Given the description of an element on the screen output the (x, y) to click on. 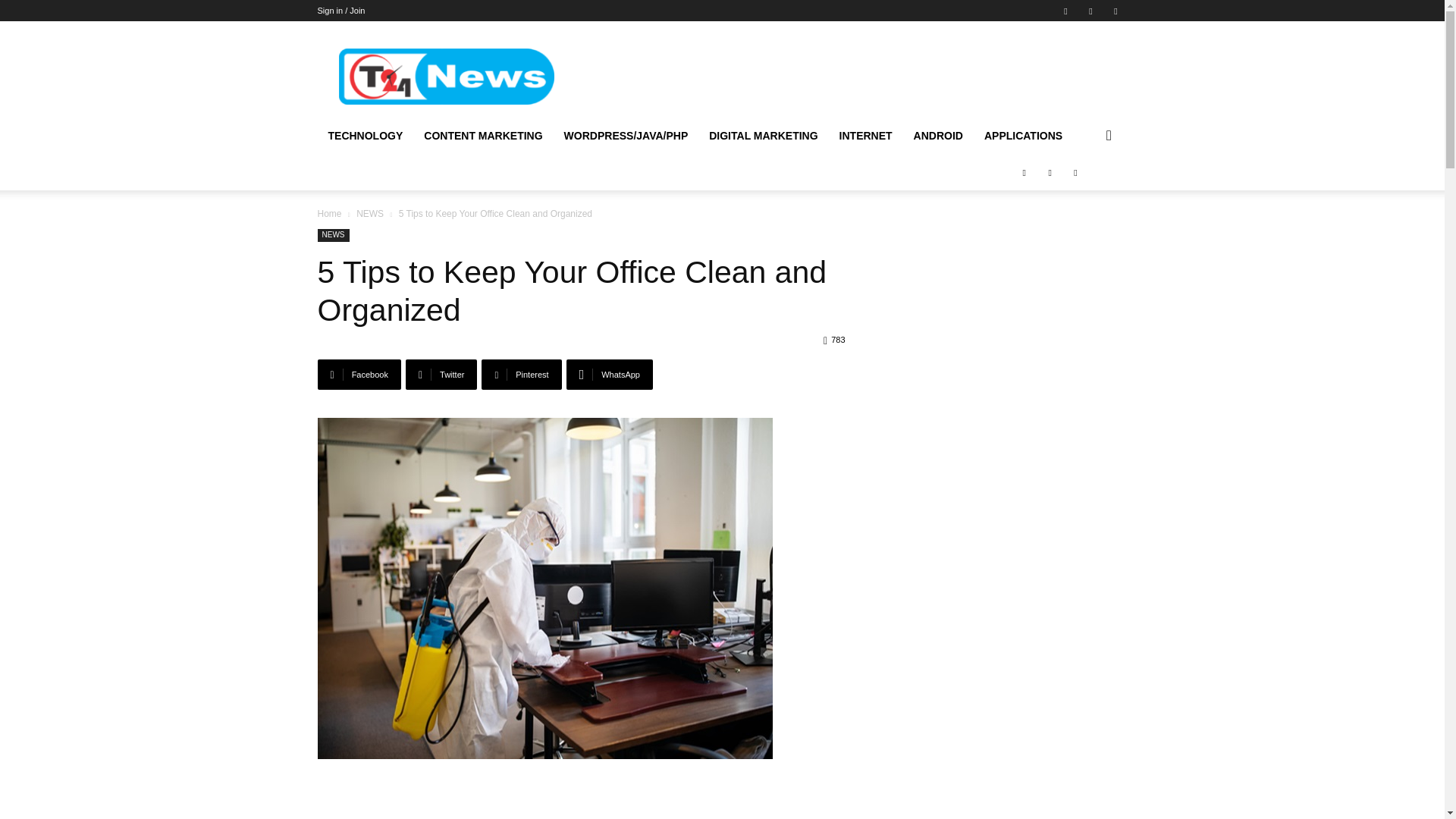
Facebook (358, 374)
ANDROID (938, 135)
NEWS (333, 235)
Search (1085, 196)
Pinterest (1090, 10)
Facebook (1065, 10)
DIGITAL MARKETING (763, 135)
Twitter (1114, 10)
technologynews24x7.com (445, 76)
CONTENT MARKETING (483, 135)
INTERNET (865, 135)
NEWS (370, 213)
View all posts in NEWS (370, 213)
Facebook (358, 374)
Twitter (441, 374)
